Given the description of an element on the screen output the (x, y) to click on. 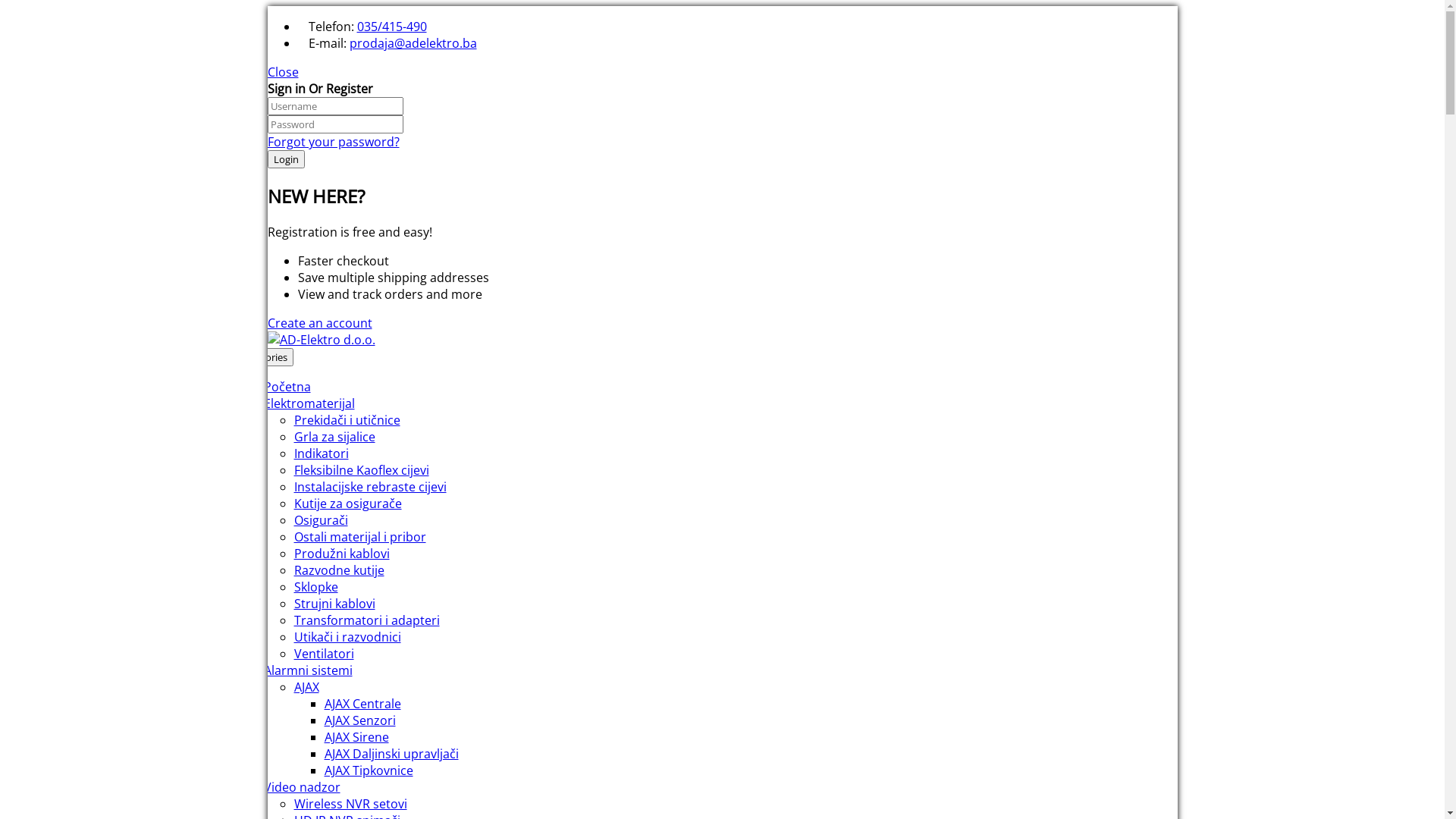
Strujni kablovi Element type: text (334, 603)
Ventilatori Element type: text (324, 653)
AJAX Element type: text (306, 686)
Create an account Element type: text (318, 322)
AJAX Sirene Element type: text (356, 736)
Ostali materijal i pribor Element type: text (360, 536)
AJAX Senzori Element type: text (359, 720)
AJAX Centrale Element type: text (362, 703)
035/415-490 Element type: text (391, 26)
Transformatori i adapteri Element type: text (366, 619)
Fleksibilne Kaoflex cijevi Element type: text (361, 469)
Elektromaterijal Element type: text (308, 403)
Instalacijske rebraste cijevi Element type: text (370, 486)
prodaja@adelektro.ba Element type: text (412, 42)
Alarmni sistemi Element type: text (307, 670)
Grla za sijalice Element type: text (334, 436)
Indikatori Element type: text (321, 453)
Forgot your password? Element type: text (332, 141)
Login Element type: text (285, 159)
Close Element type: text (282, 71)
Sklopke Element type: text (316, 586)
Categories Element type: text (263, 357)
AJAX Tipkovnice Element type: text (368, 770)
Wireless NVR setovi Element type: text (350, 803)
Video nadzor Element type: text (301, 786)
Razvodne kutije Element type: text (339, 569)
